Given the description of an element on the screen output the (x, y) to click on. 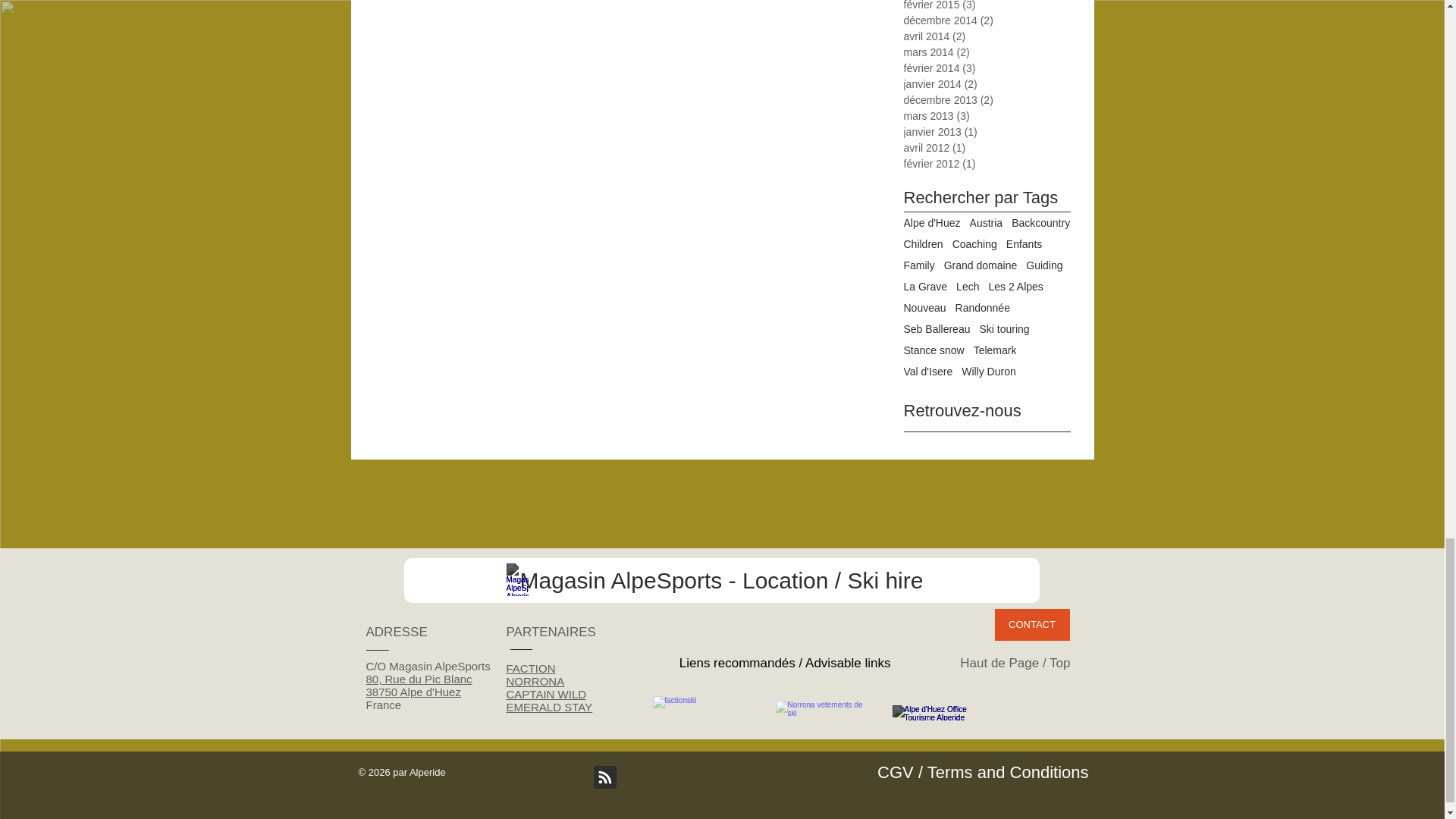
Office du tourisme Alpe d'Huez (932, 712)
Faction (698, 707)
Norrona (818, 710)
